Given the description of an element on the screen output the (x, y) to click on. 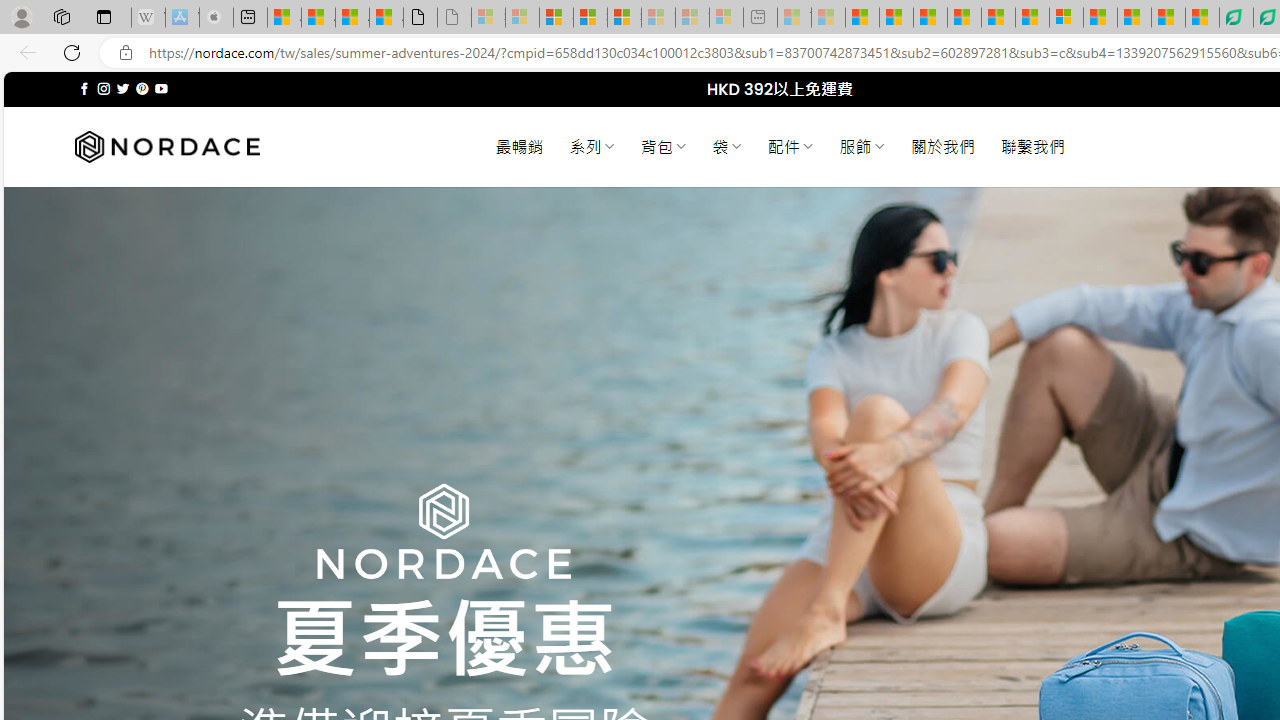
LendingTree - Compare Lenders (1236, 17)
Microsoft Start (1133, 17)
Top Stories - MSN - Sleeping (794, 17)
Back (24, 52)
Personal Profile (21, 16)
Workspaces (61, 16)
Nordace (167, 147)
New tab (250, 17)
